Given the description of an element on the screen output the (x, y) to click on. 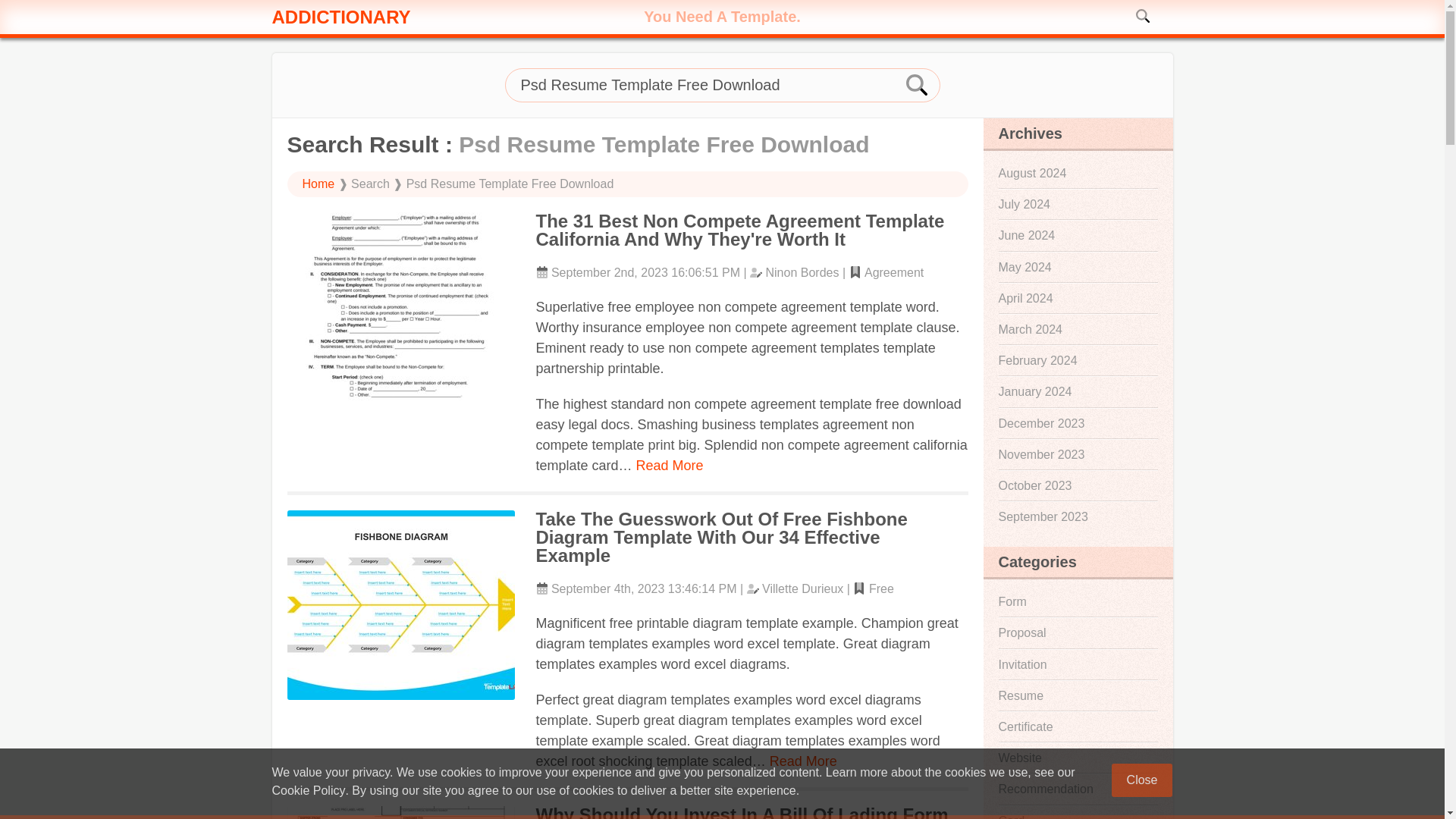
Psd Resume Template Free Download (722, 84)
Read More (669, 465)
Search (1144, 15)
Home (317, 183)
Search (1144, 15)
Search (917, 85)
ADDICTIONARY (405, 17)
Read More (803, 761)
